Given the description of an element on the screen output the (x, y) to click on. 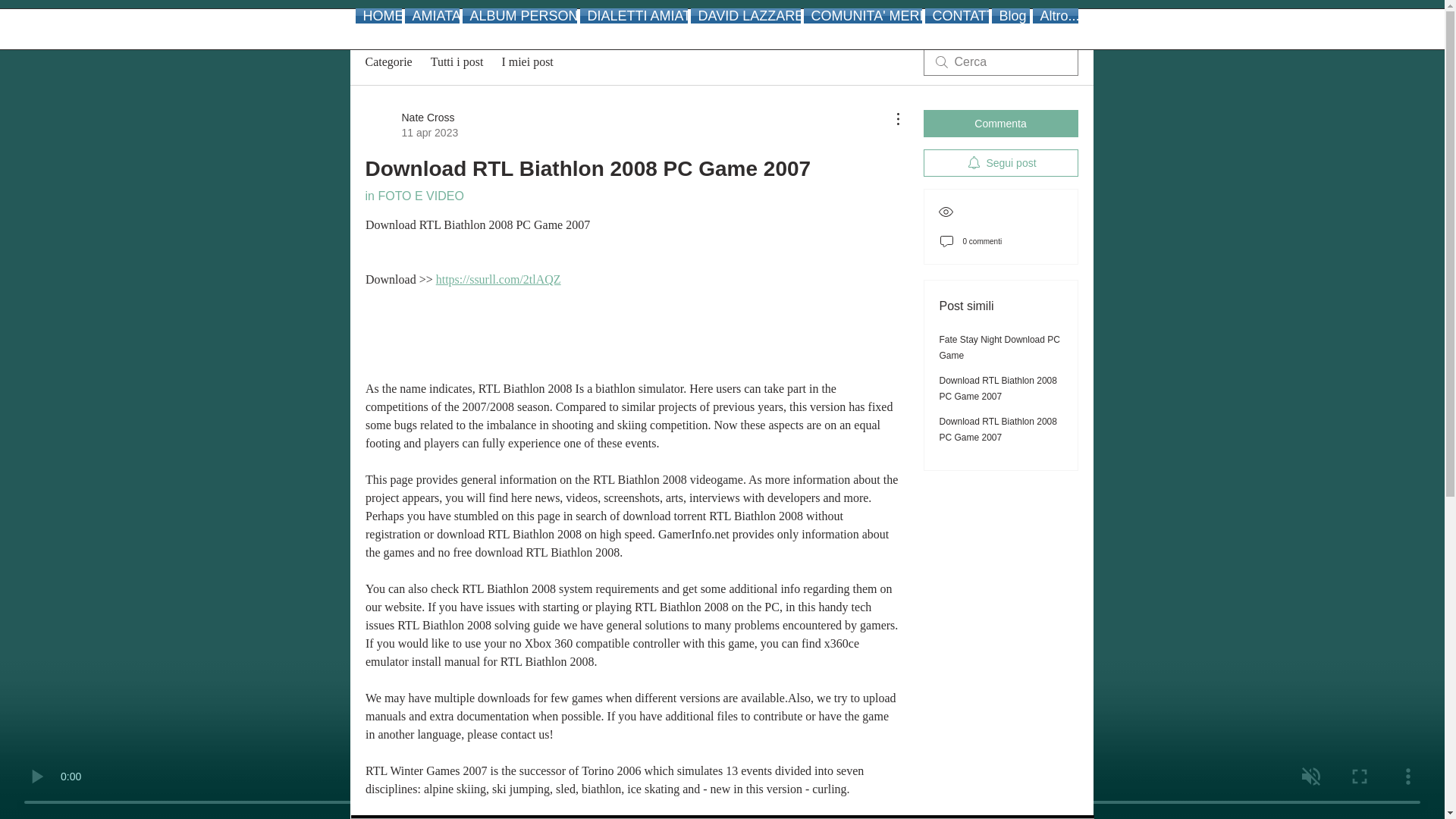
ALBUM PERSONALE (519, 15)
COMUNITA' MERIGAR (862, 15)
DIALETTI AMIATINI (633, 15)
AMIATA (432, 15)
Mi piace di Facebook (701, 15)
HOME (379, 15)
DAVID LAZZARETTI (745, 15)
Blog (1010, 15)
CONTATTI (956, 15)
